Given the description of an element on the screen output the (x, y) to click on. 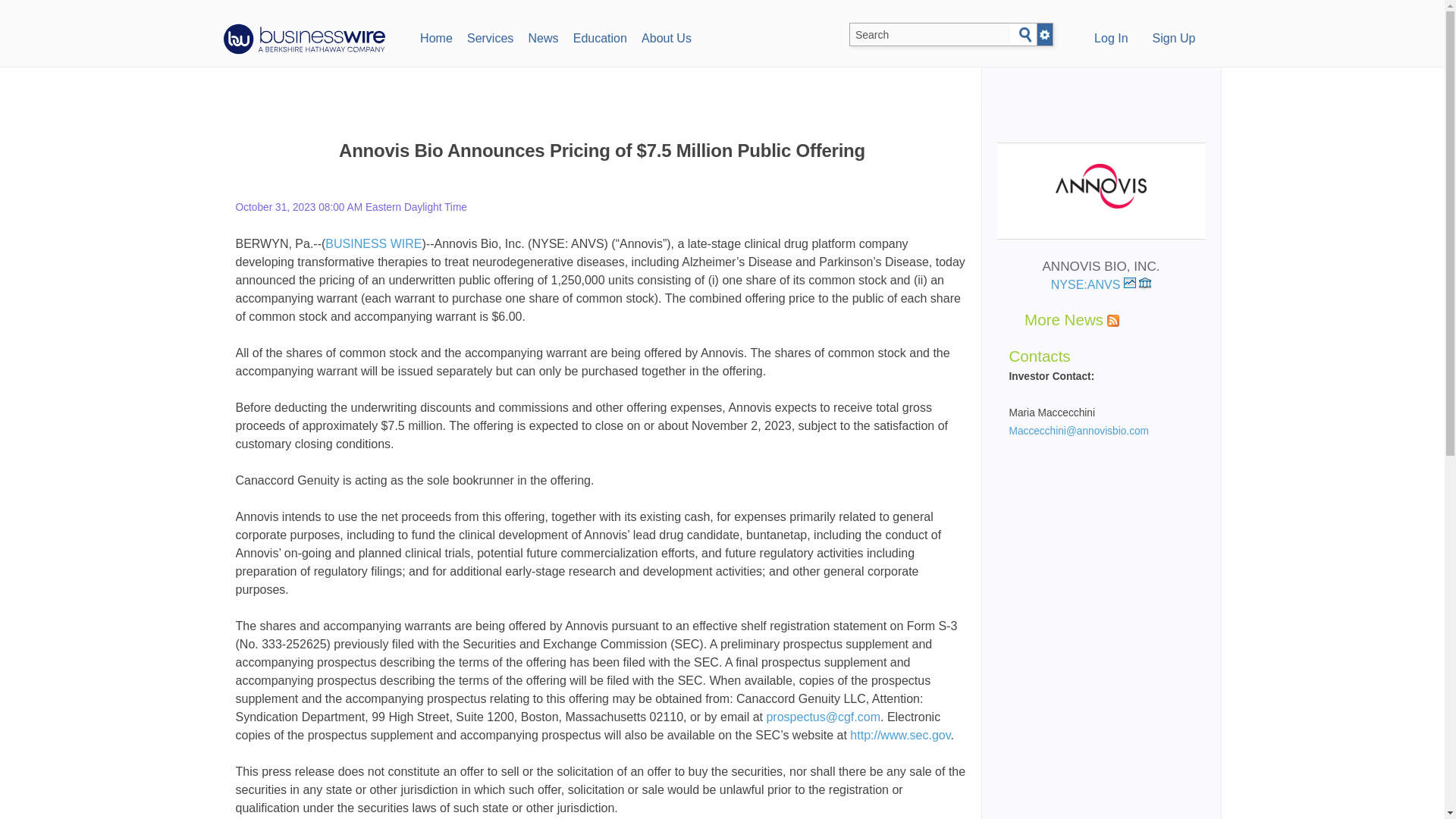
Search BusinessWire.com (930, 34)
About Us (665, 36)
View stock quote and chart (1129, 282)
News (543, 36)
BUSINESS WIRE (373, 243)
Home (436, 36)
Education (599, 36)
RSS feed for Annovis Bio, Inc. (1112, 320)
Services (490, 36)
NYSE:ANVS (1093, 284)
View SEC Filings (1144, 282)
Search (1025, 34)
